Given the description of an element on the screen output the (x, y) to click on. 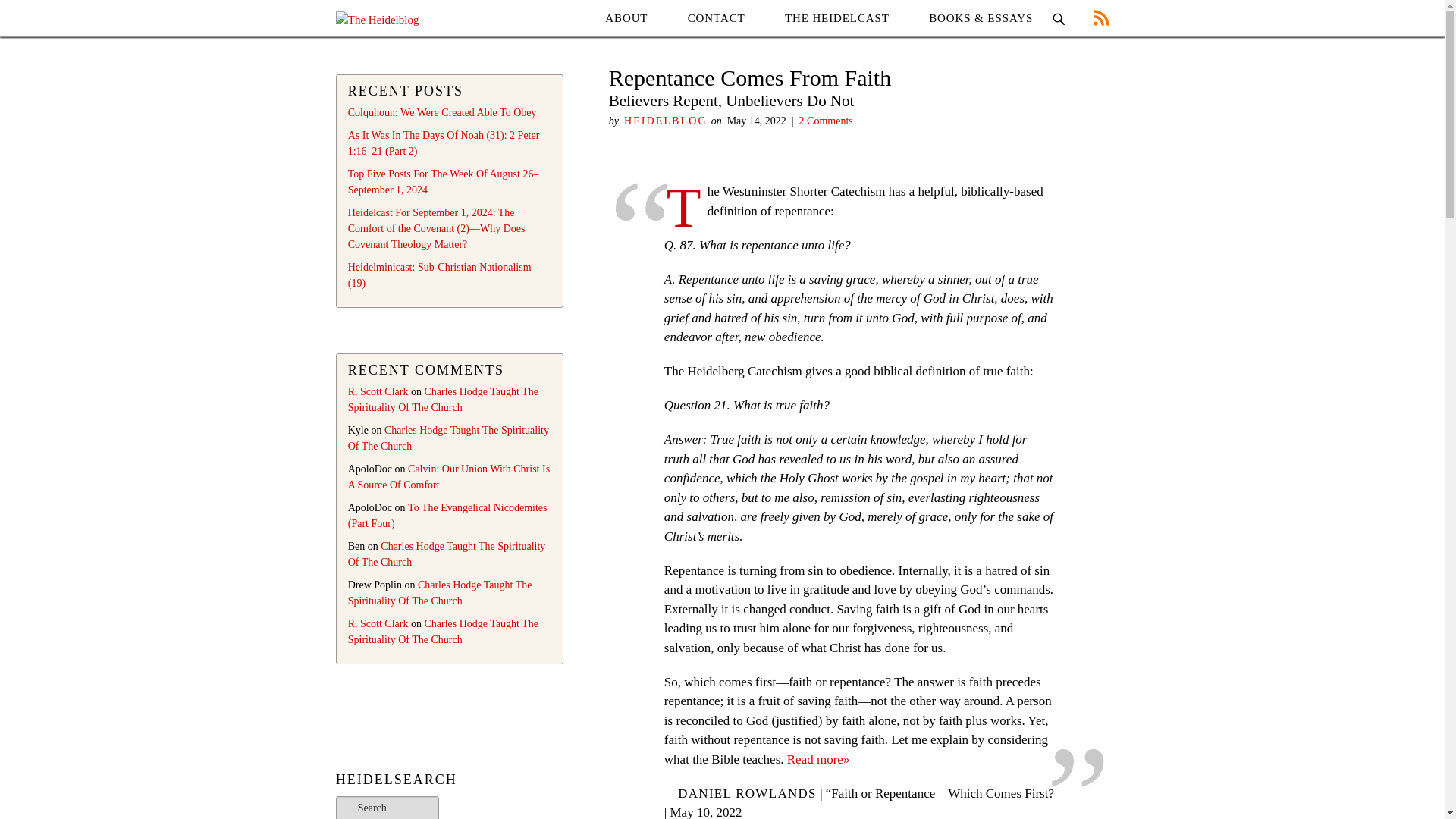
The Heidelcast (837, 18)
HEIDELBLOG (665, 120)
CONTACT (715, 18)
About (625, 18)
ABOUT (625, 18)
Contact (715, 18)
THE HEIDELCAST (837, 18)
2 Comments (826, 120)
